Given the description of an element on the screen output the (x, y) to click on. 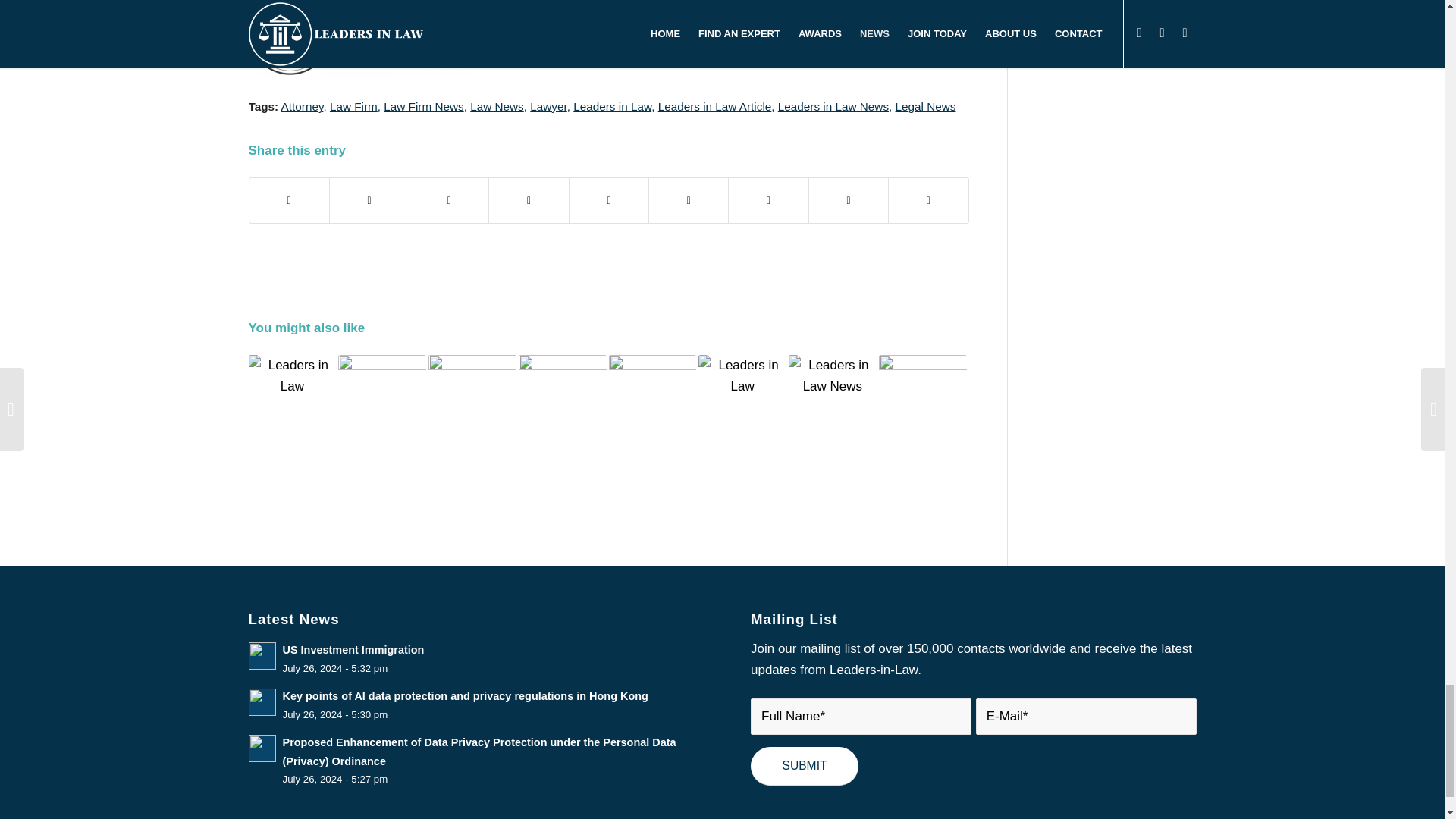
Law Firm (353, 106)
Leaders in Law (611, 106)
Submit (805, 765)
Leaders in Law Article (714, 106)
Law Firm News (423, 106)
Legal News (925, 106)
Lawyer (547, 106)
Leaders in Law News (832, 106)
Attorney (302, 106)
Law News (497, 106)
